Given the description of an element on the screen output the (x, y) to click on. 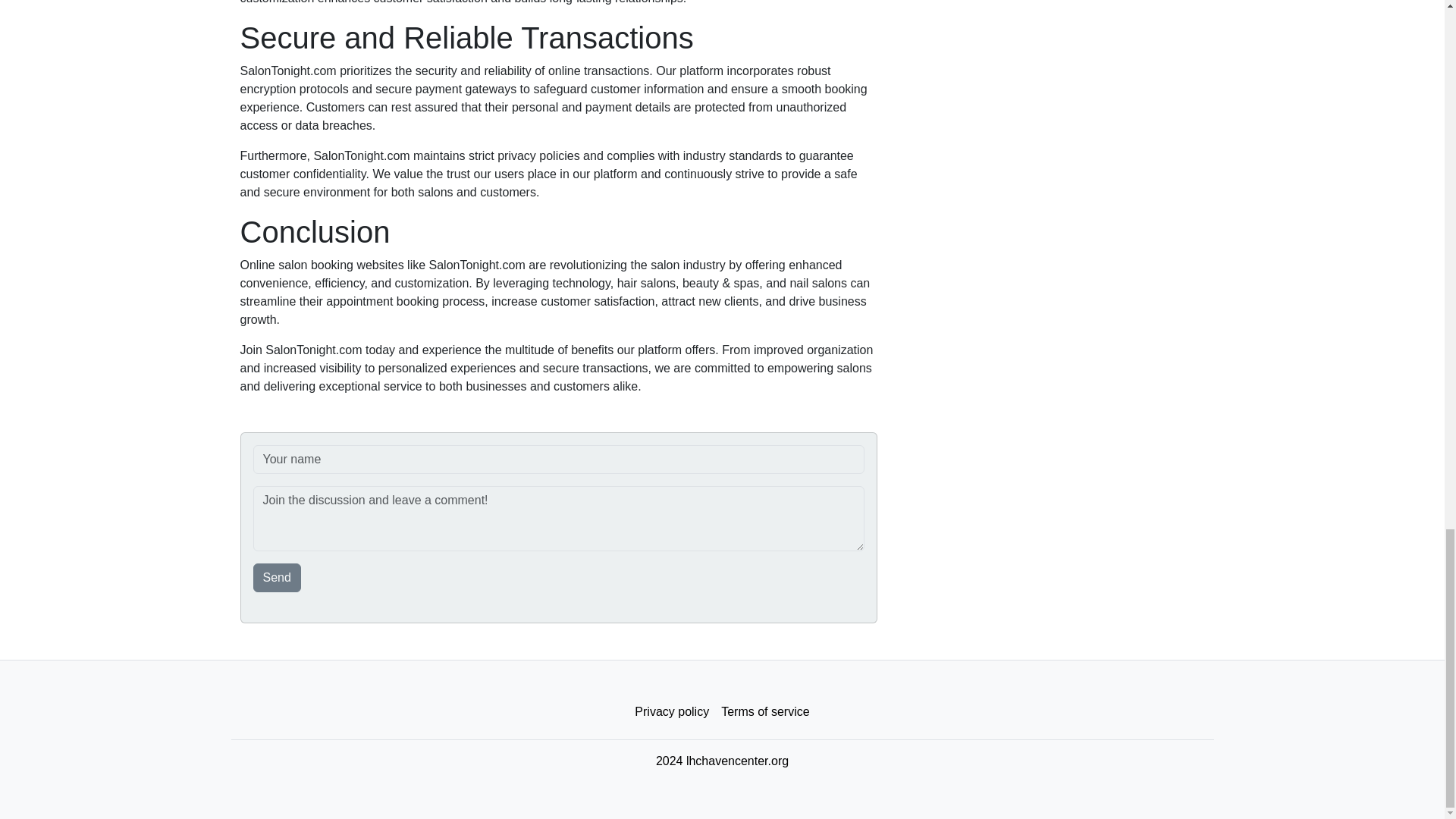
Send (277, 577)
Send (277, 577)
Terms of service (764, 711)
Privacy policy (671, 711)
